Given the description of an element on the screen output the (x, y) to click on. 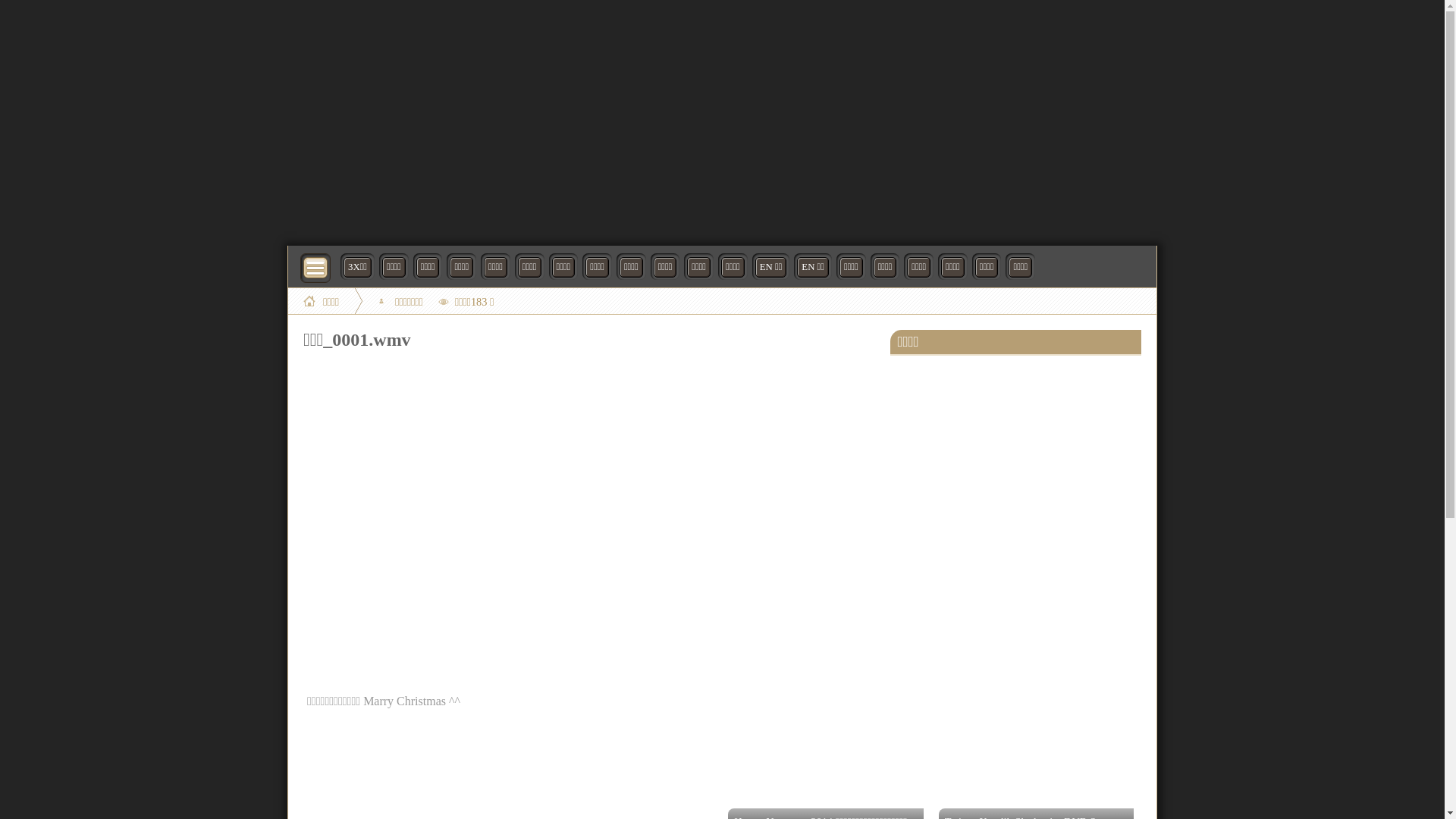
3rd party ad content Element type: hover (722, 121)
YouTube video Element type: hover (589, 527)
